Given the description of an element on the screen output the (x, y) to click on. 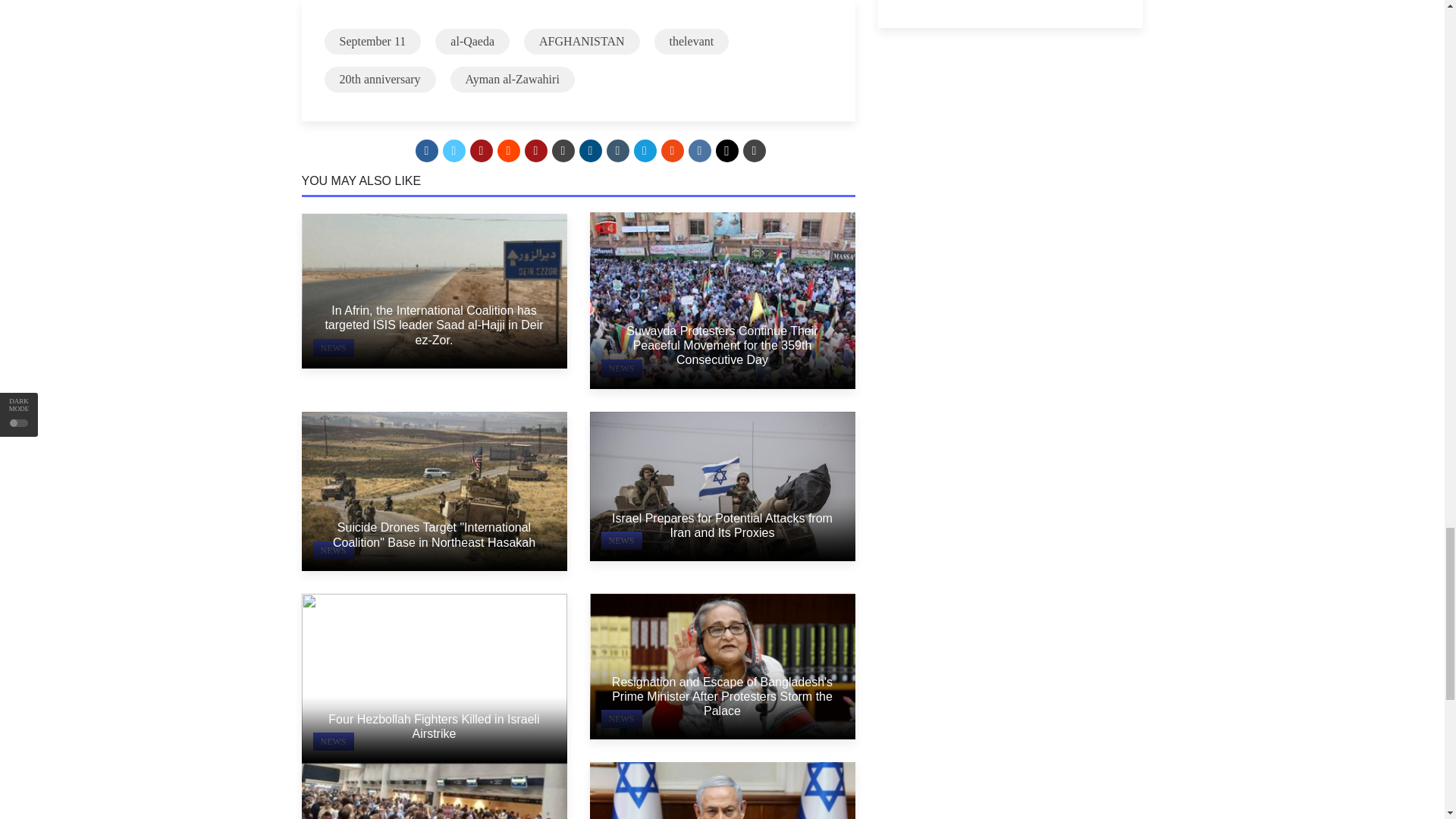
thelevant (691, 41)
20th anniversary (379, 79)
al-Qaeda (472, 41)
Ayman al-Zawahiri (512, 79)
September 11 (373, 41)
AFGHANISTAN (582, 41)
